Given the description of an element on the screen output the (x, y) to click on. 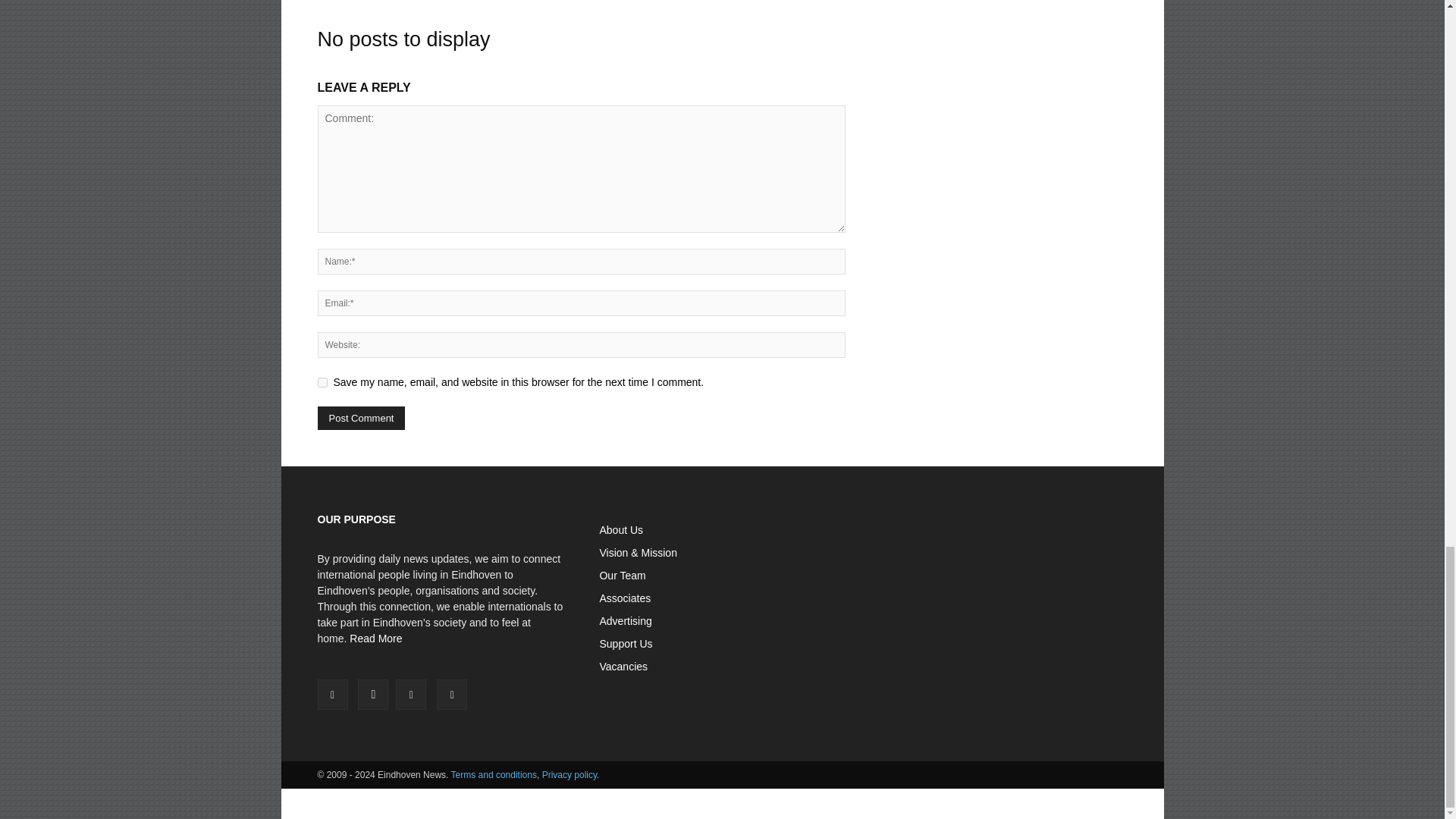
yes (321, 382)
Post Comment (360, 417)
